Given the description of an element on the screen output the (x, y) to click on. 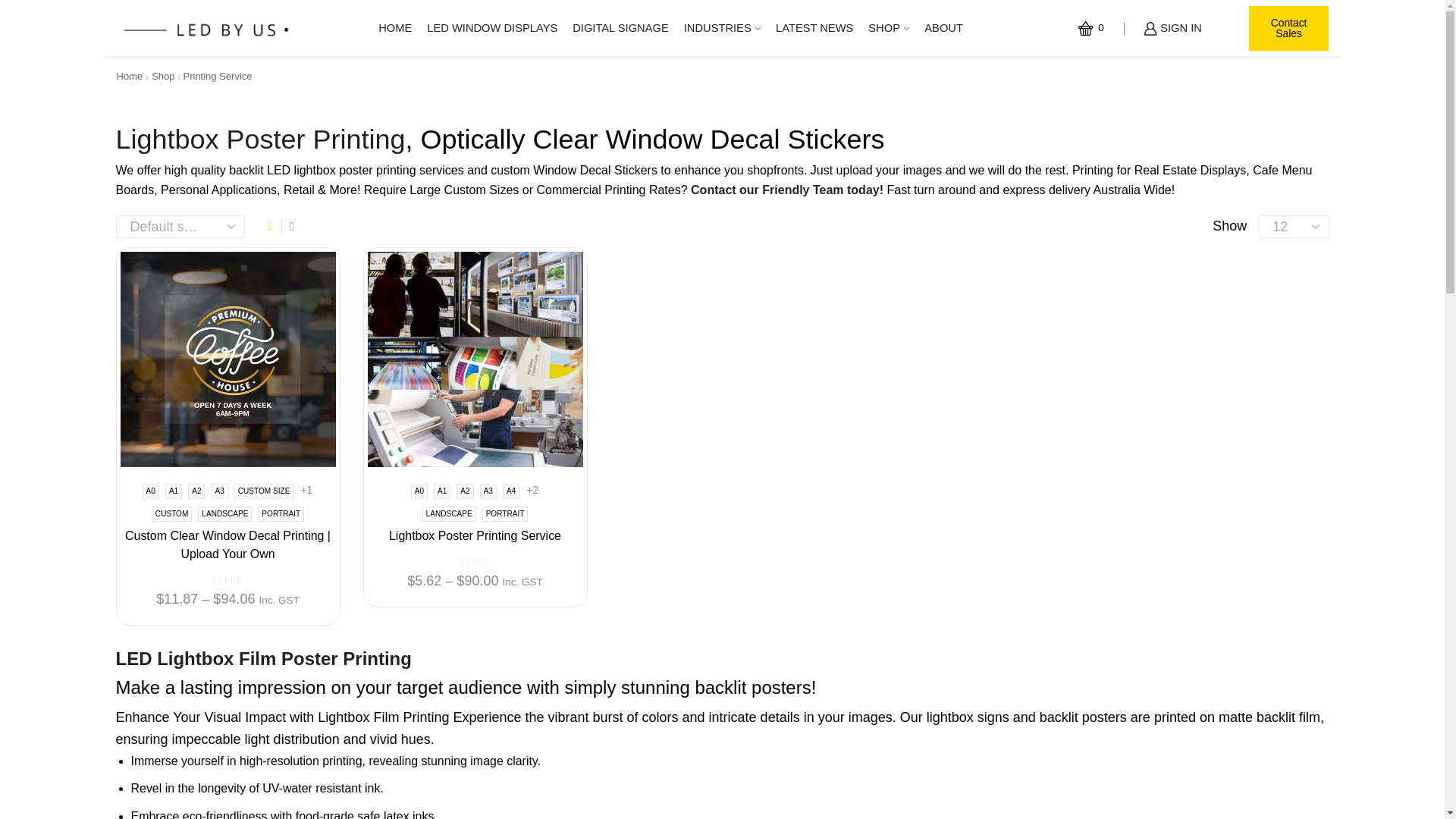
SIGN IN (1172, 28)
LED WINDOW DISPLAYS (491, 28)
Contact Sales (1289, 28)
LATEST NEWS (814, 28)
ABOUT (944, 28)
SHOP (888, 28)
HOME (395, 28)
INDUSTRIES (722, 28)
DIGITAL SIGNAGE (620, 28)
0 (1093, 27)
